Given the description of an element on the screen output the (x, y) to click on. 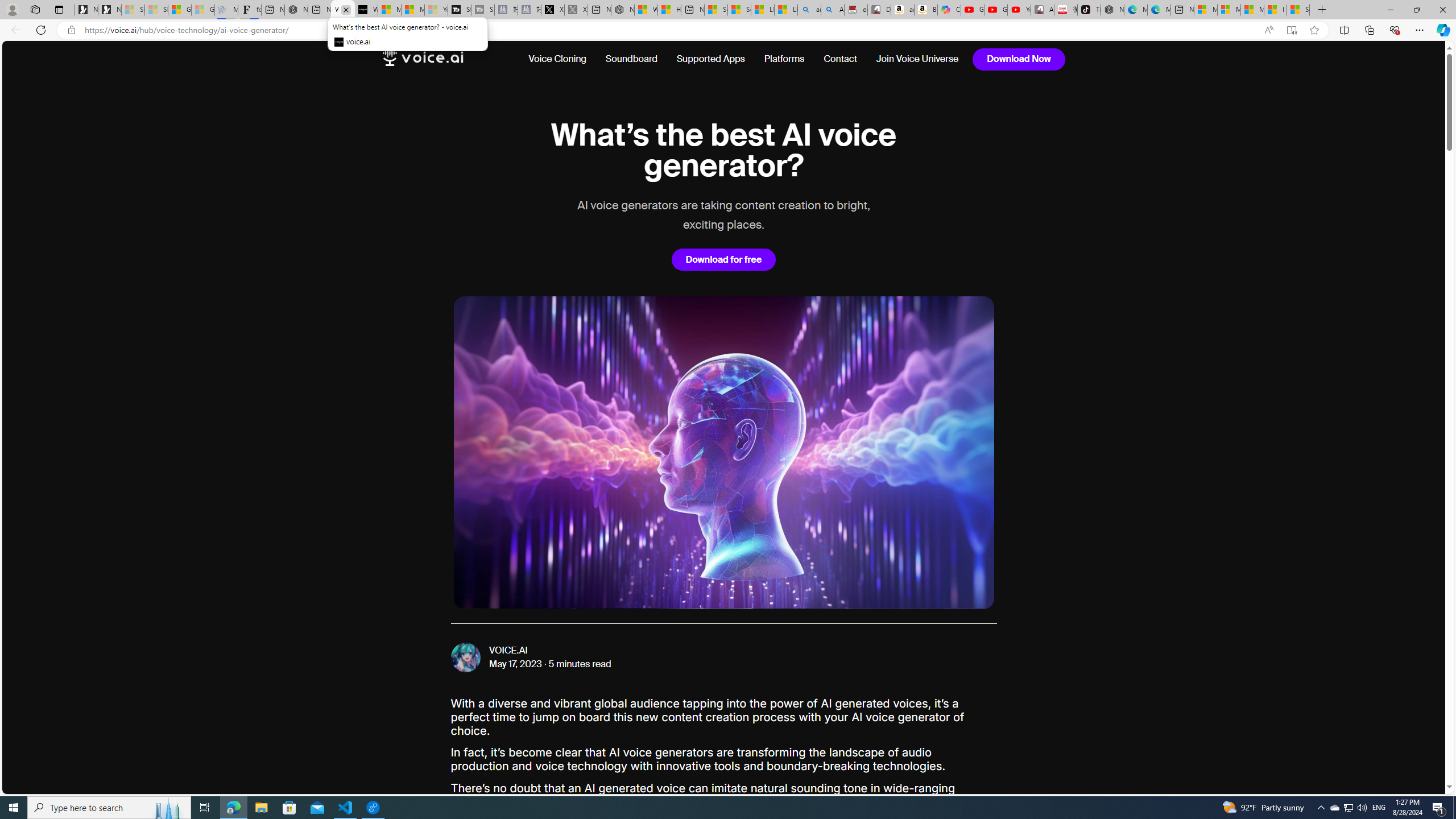
Voice Cloning (561, 59)
Platforms (784, 59)
Join Voice Universe (917, 59)
